Given the description of an element on the screen output the (x, y) to click on. 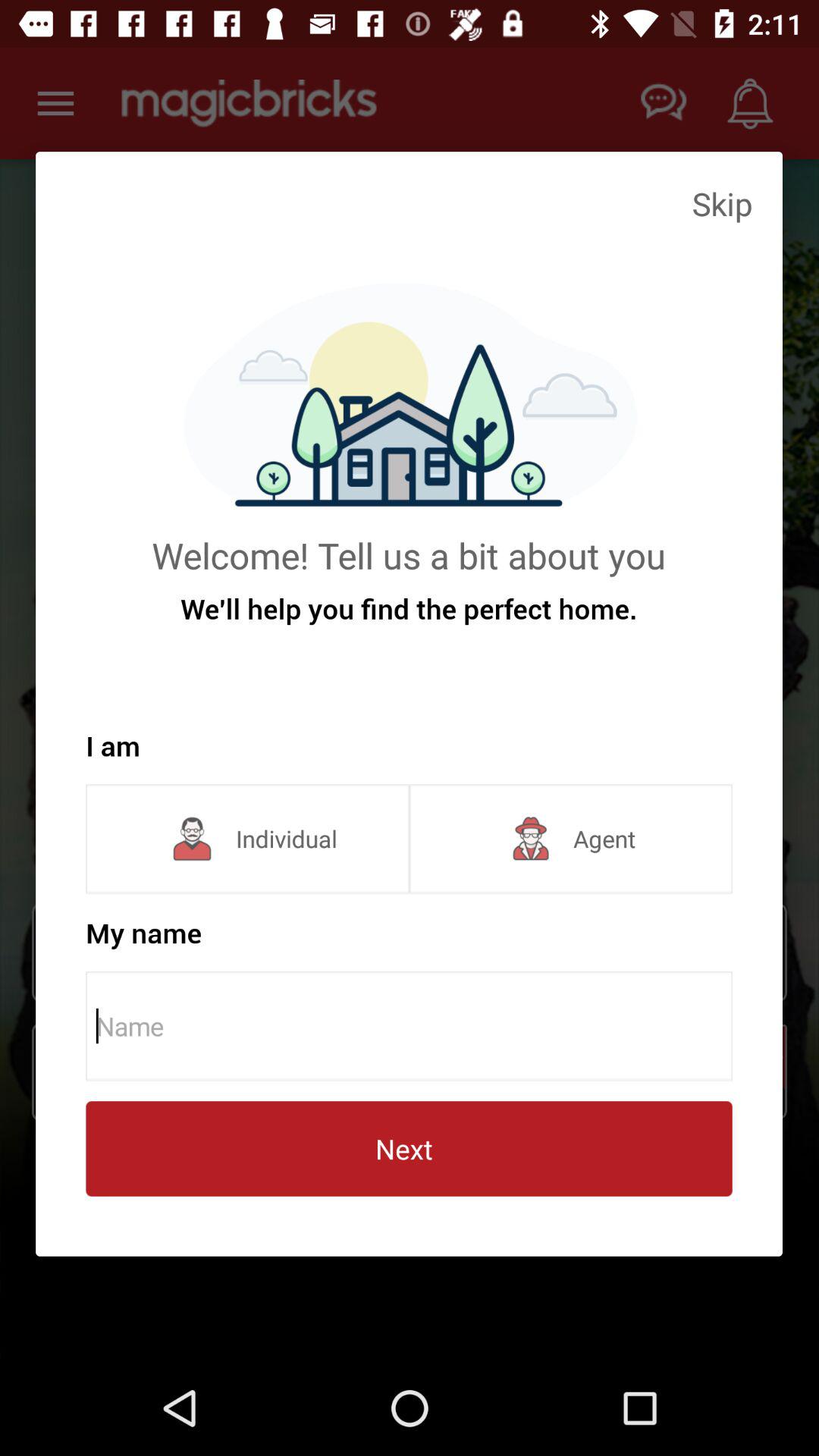
launch icon at the top right corner (722, 203)
